Given the description of an element on the screen output the (x, y) to click on. 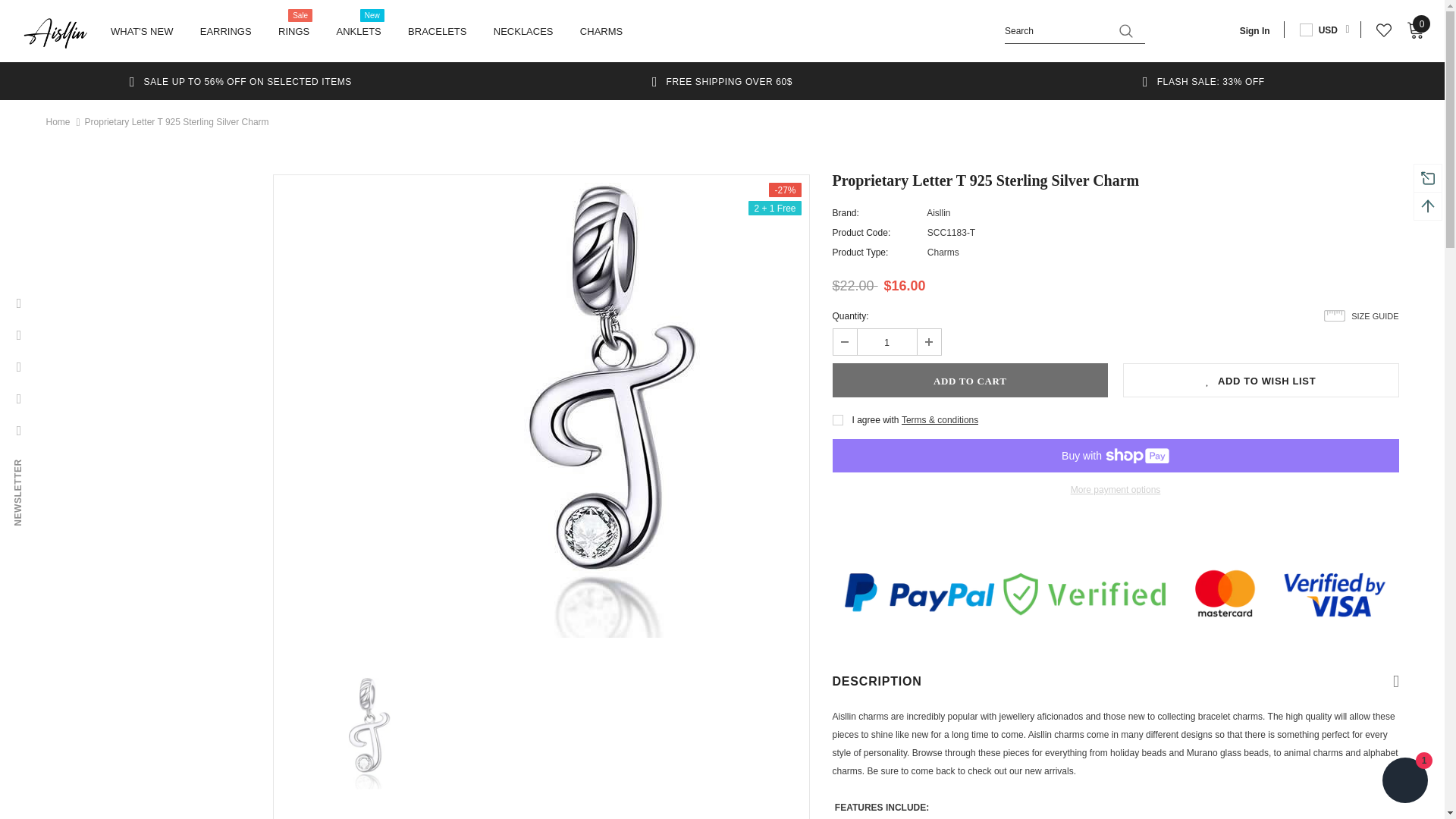
Add to cart (970, 380)
1 (886, 341)
